Given the description of an element on the screen output the (x, y) to click on. 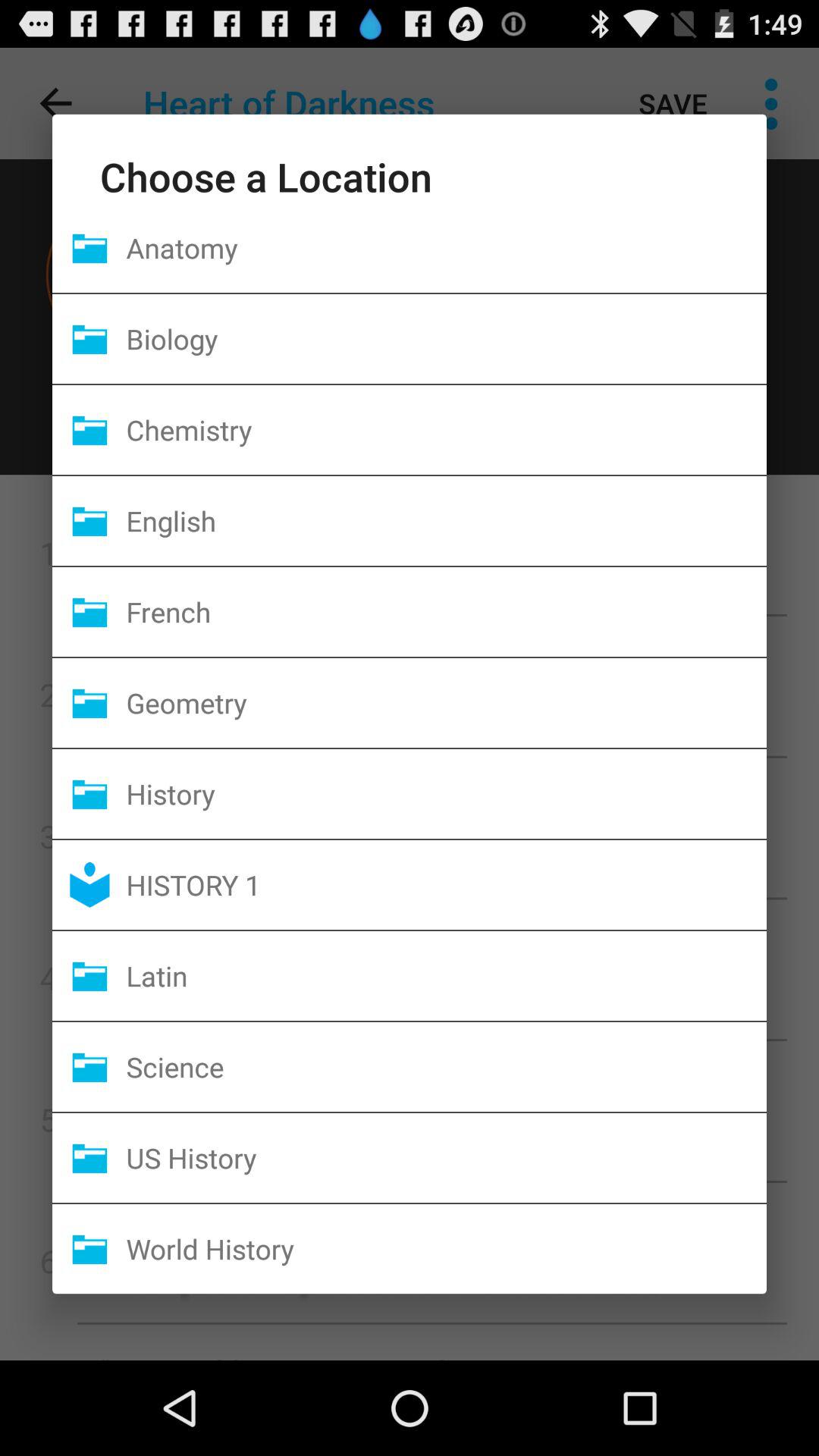
click the english icon (446, 520)
